Given the description of an element on the screen output the (x, y) to click on. 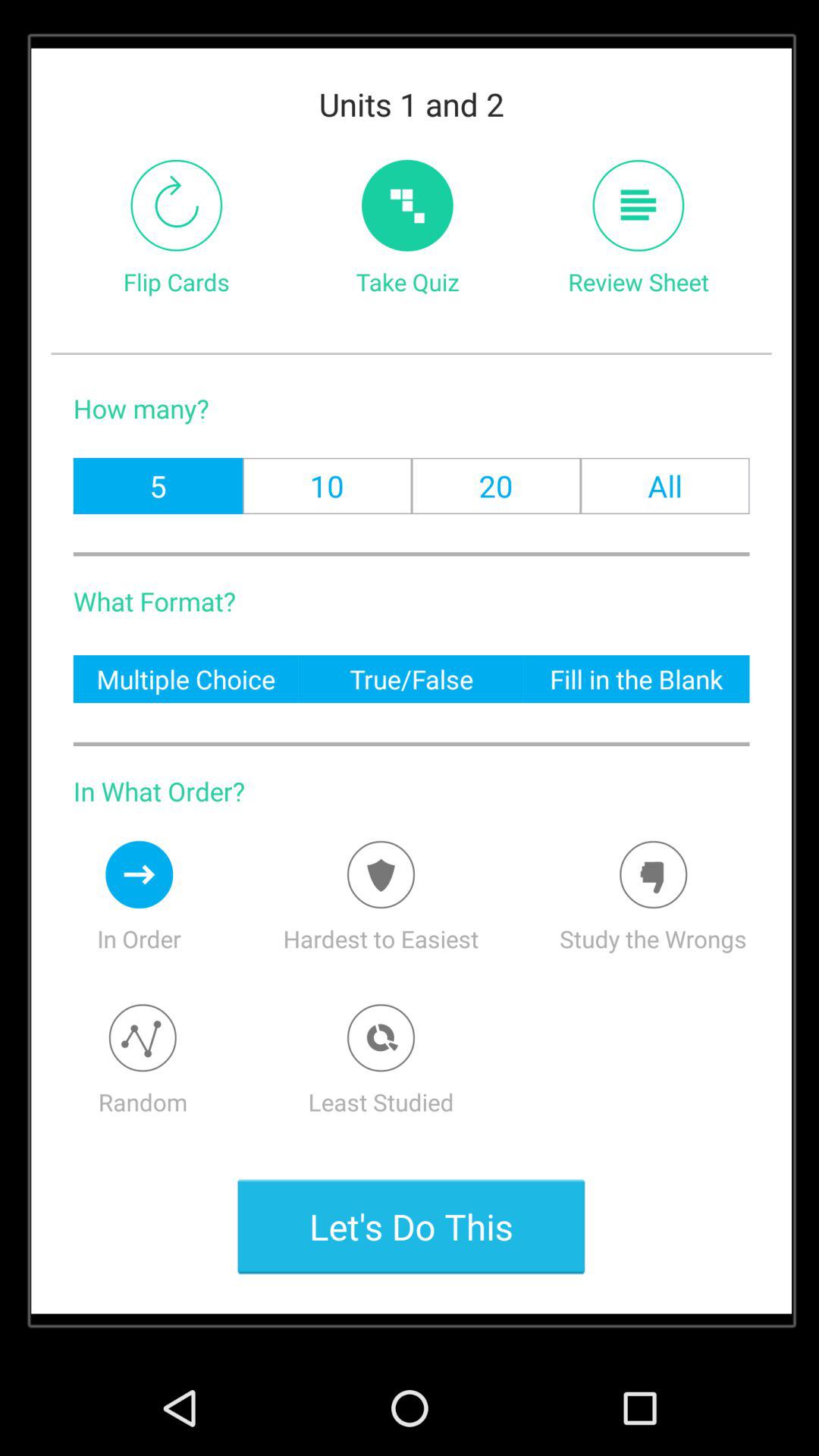
turn off true/false item (410, 678)
